Given the description of an element on the screen output the (x, y) to click on. 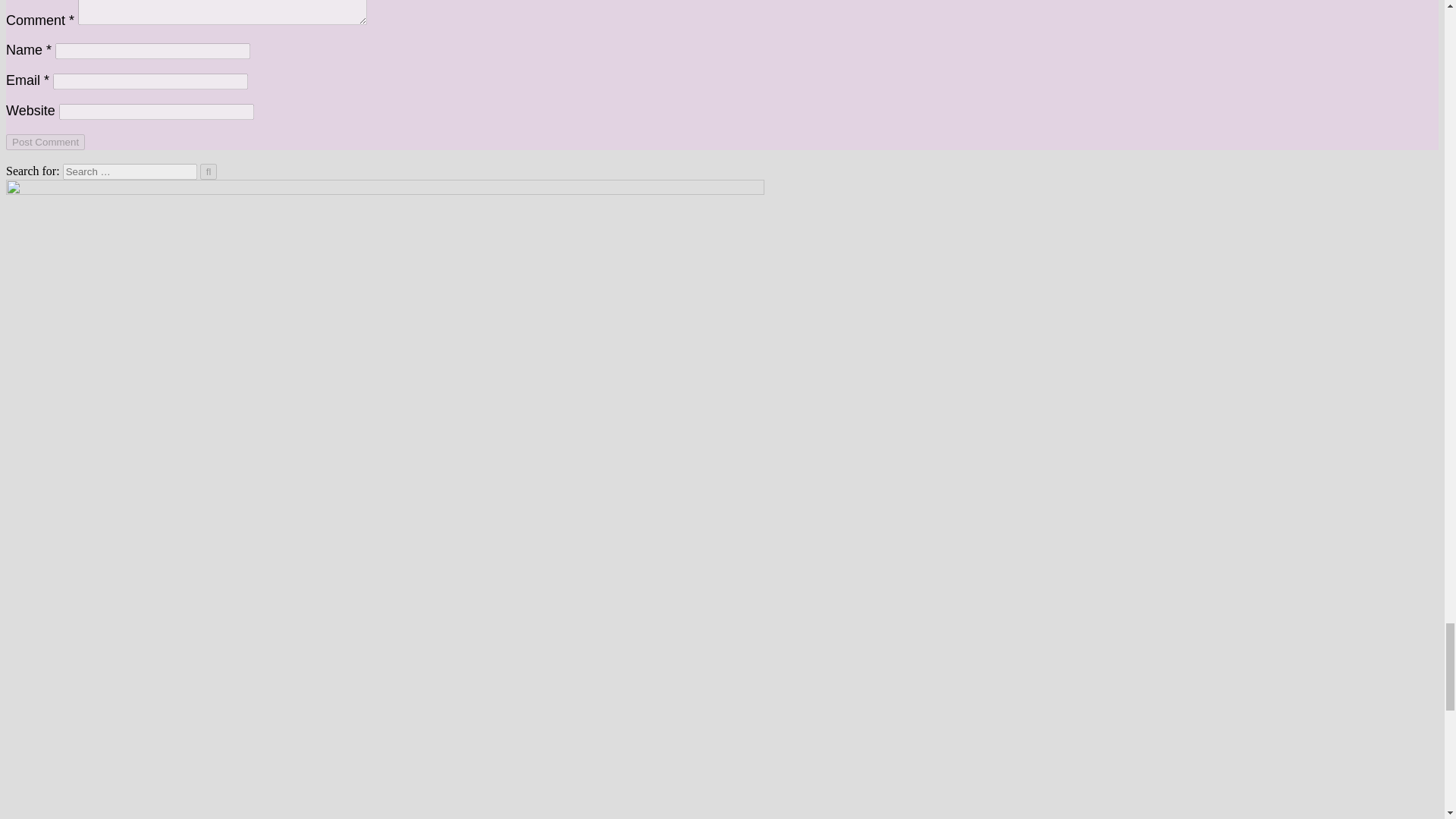
Post Comment (44, 141)
